Given the description of an element on the screen output the (x, y) to click on. 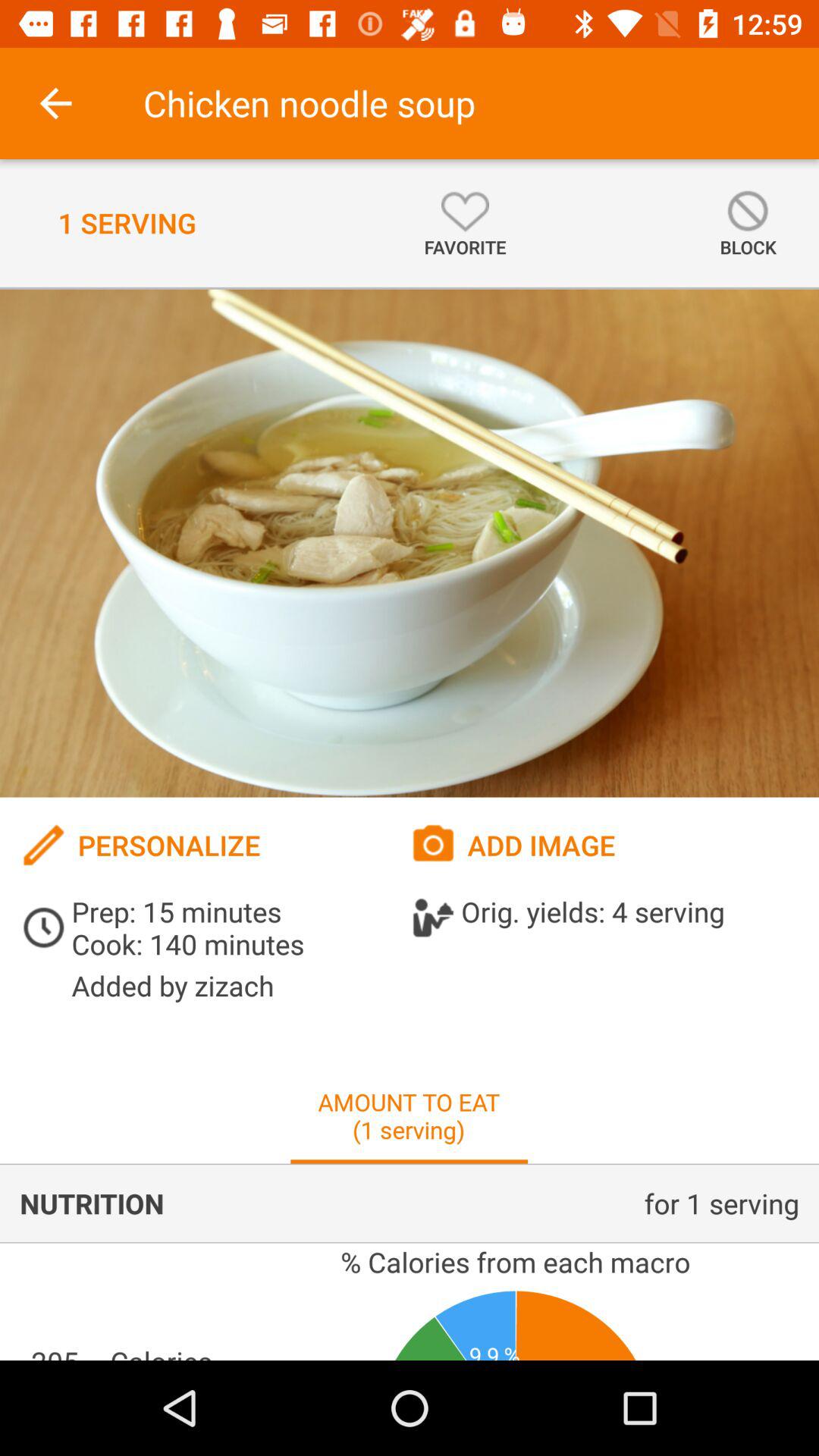
jump to the block icon (748, 223)
